Given the description of an element on the screen output the (x, y) to click on. 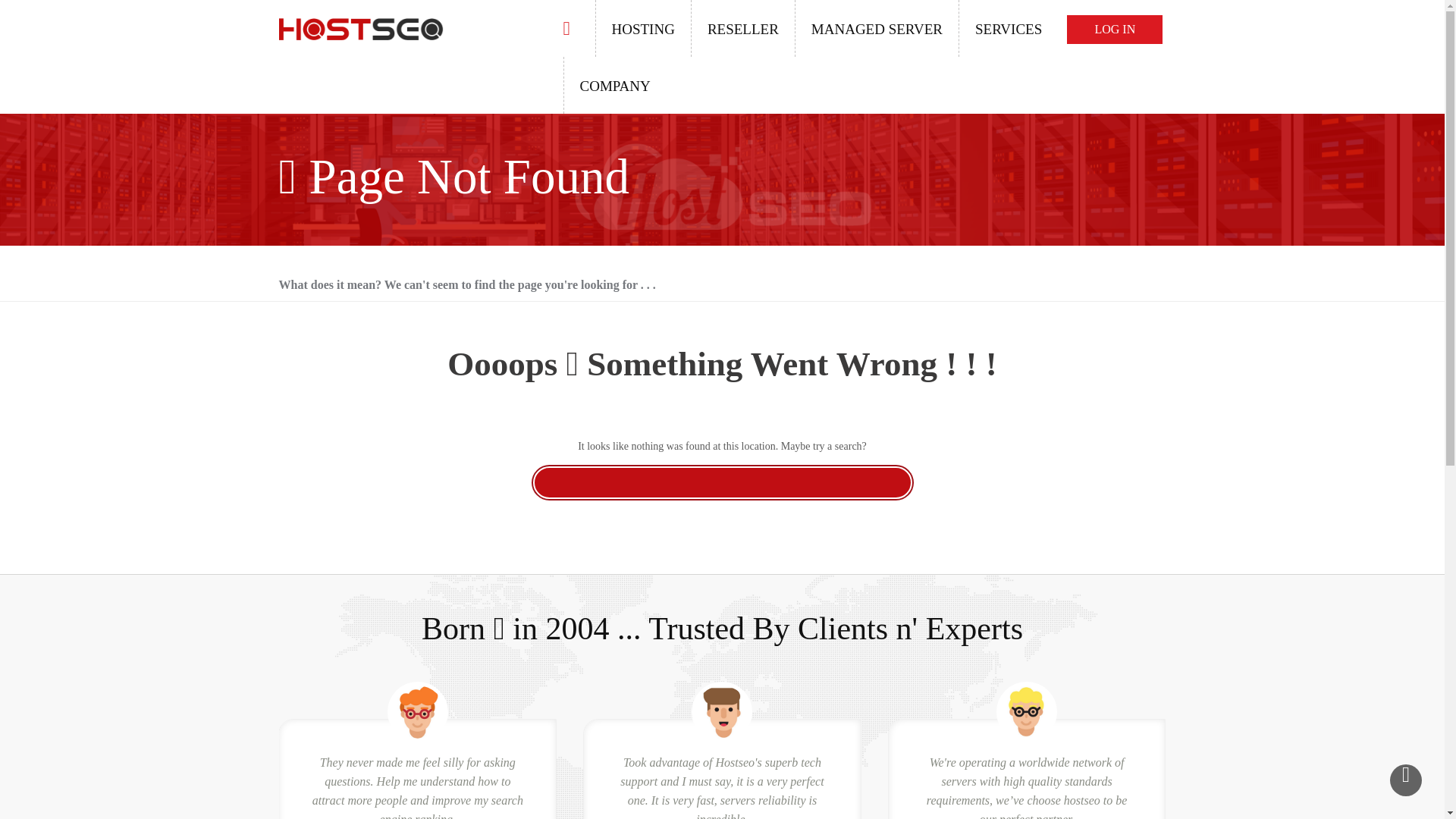
RESELLER (742, 28)
MANAGED SERVER (876, 28)
COMPANY (613, 84)
HOSTING (642, 28)
SERVICES (1008, 28)
